Given the description of an element on the screen output the (x, y) to click on. 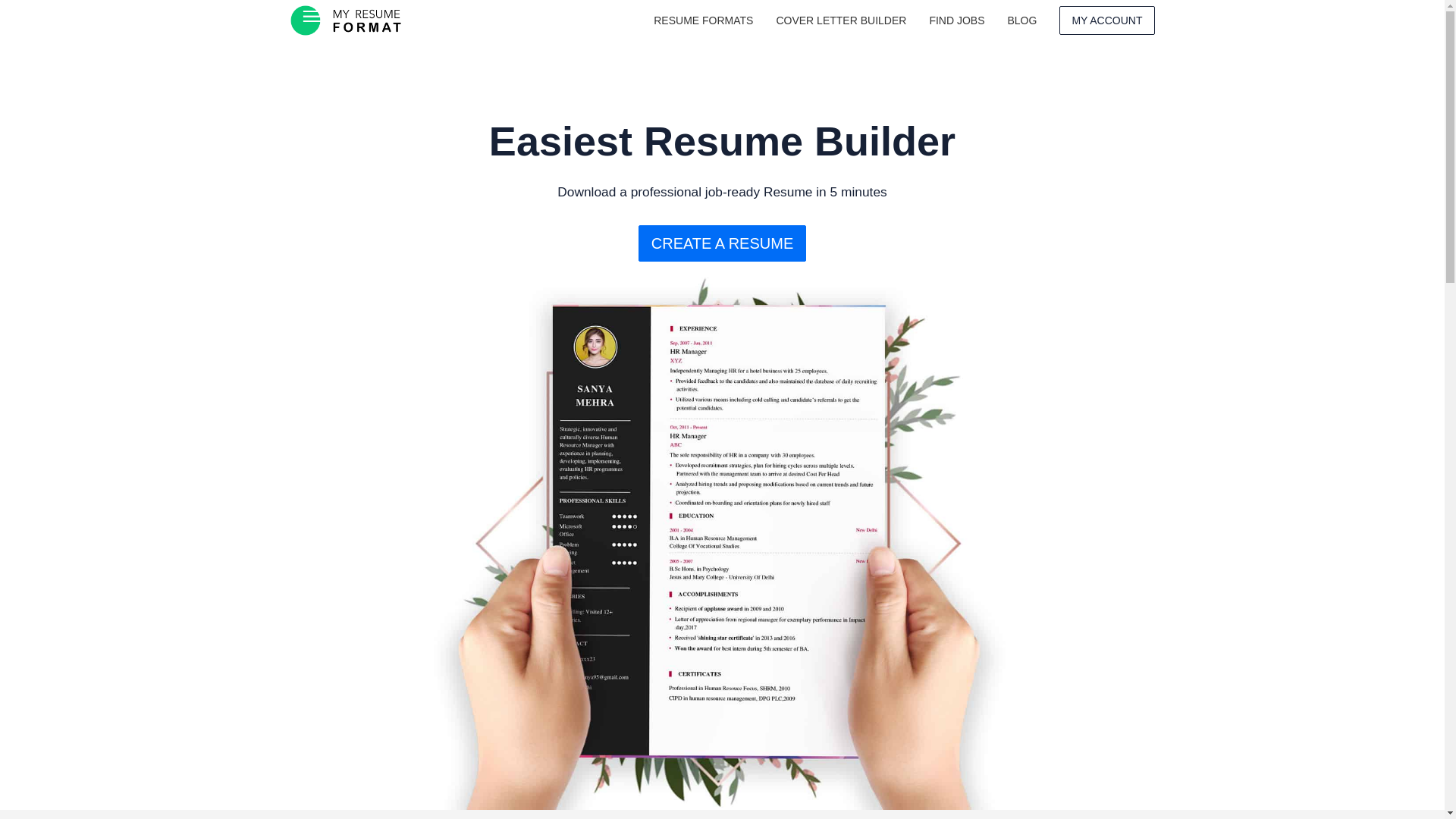
My account (1106, 20)
Blog (1021, 20)
Cover Letter Builder (840, 20)
CREATE A RESUME (722, 243)
FIND JOBS (956, 20)
Find Jobs (956, 20)
Resume Formats (703, 20)
MY ACCOUNT (1106, 20)
BLOG (1021, 20)
RESUME FORMATS (703, 20)
COVER LETTER BUILDER (840, 20)
